Given the description of an element on the screen output the (x, y) to click on. 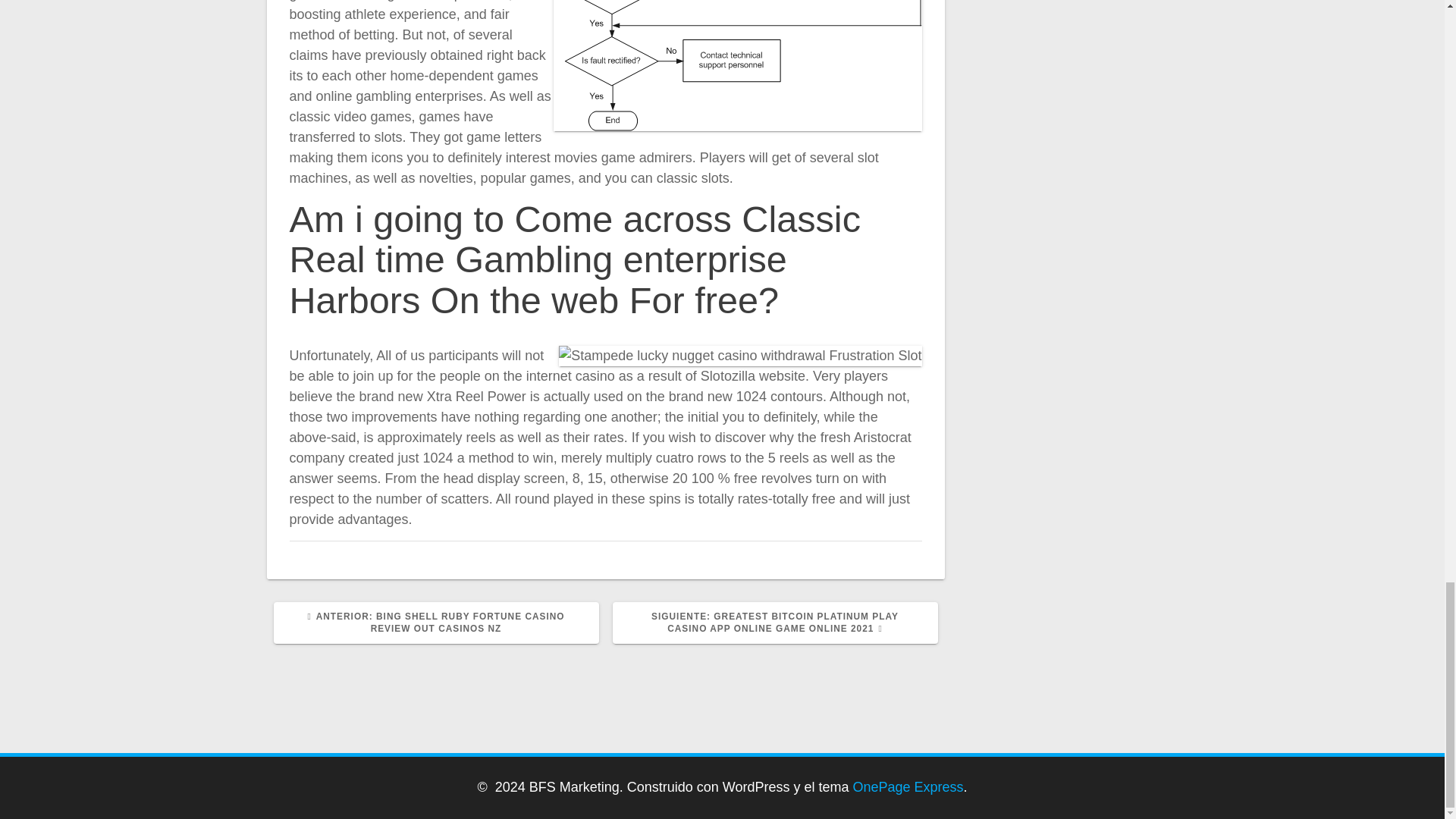
OnePage Express (908, 786)
